Given the description of an element on the screen output the (x, y) to click on. 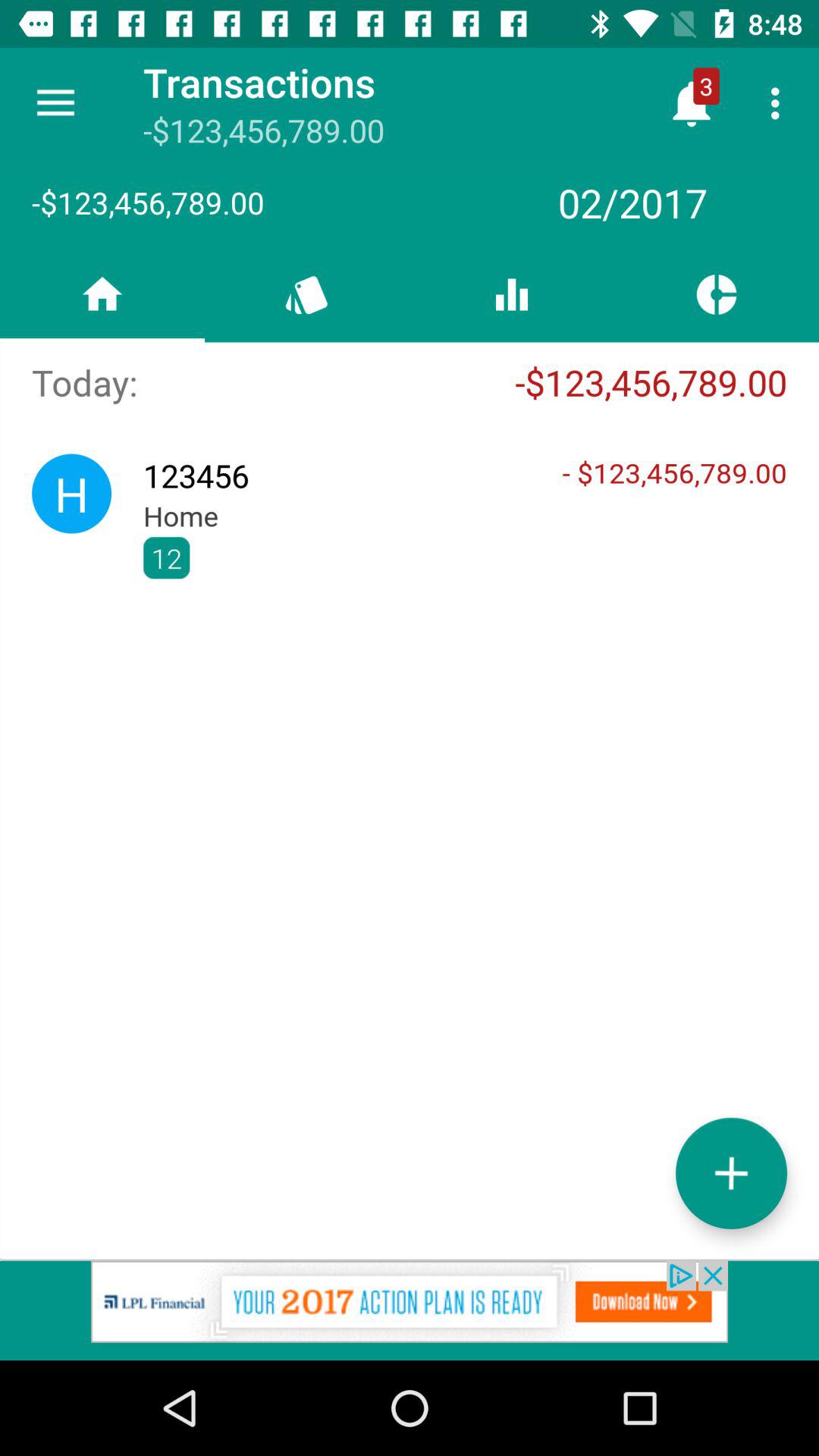
view advertisement (409, 1310)
